Given the description of an element on the screen output the (x, y) to click on. 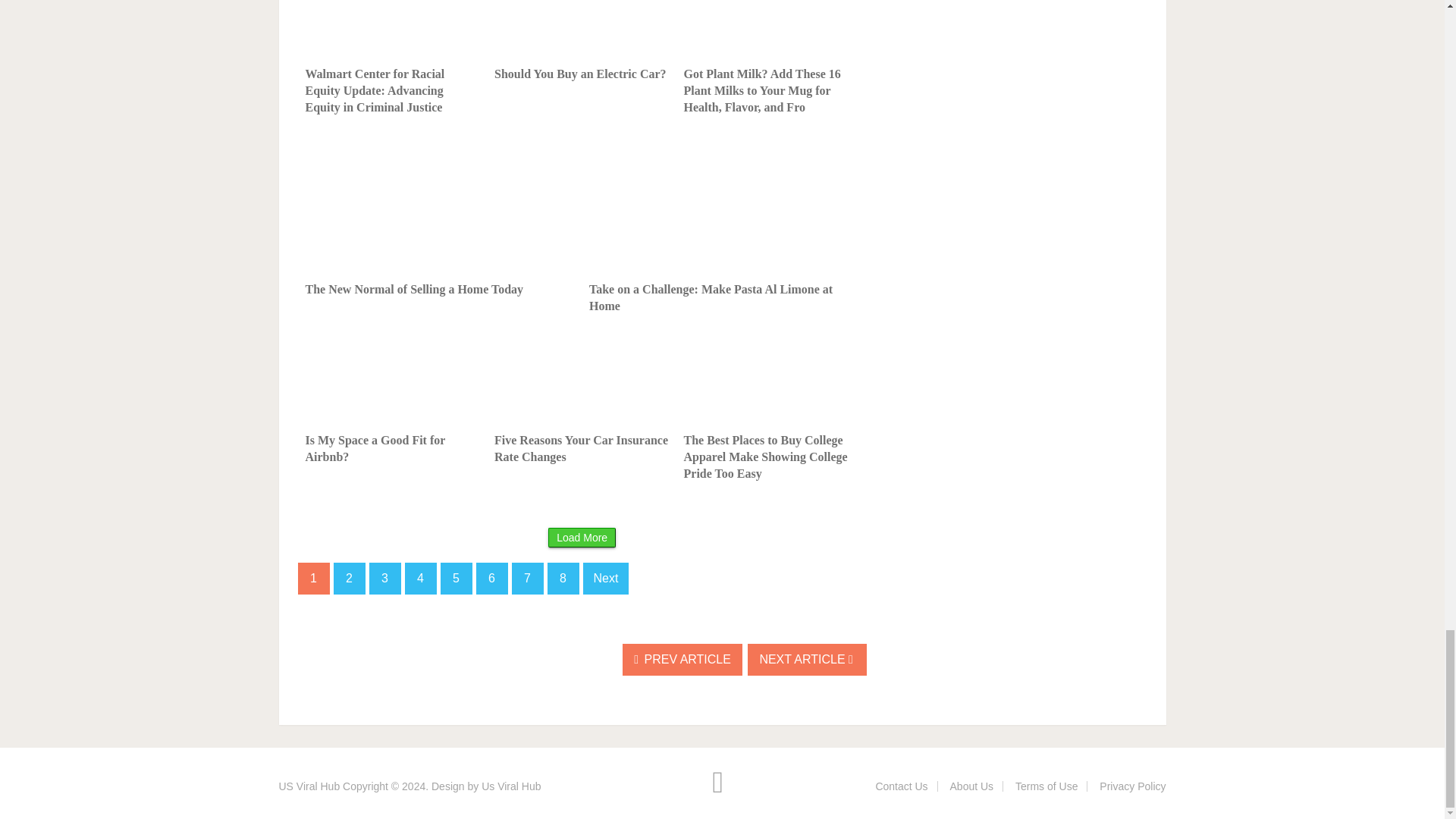
 Viral Content and Stories Hub (309, 786)
